Given the description of an element on the screen output the (x, y) to click on. 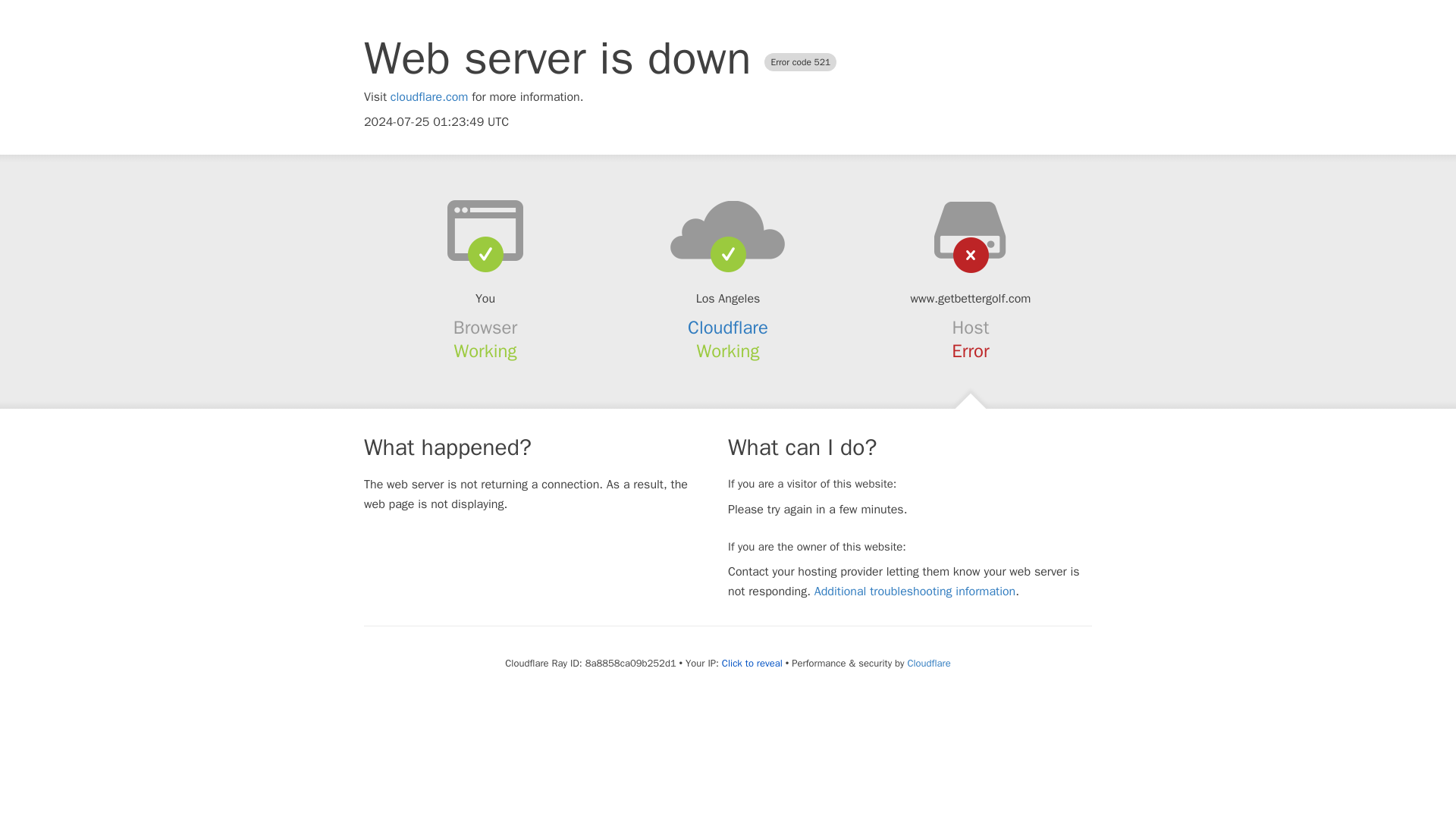
Cloudflare (727, 327)
cloudflare.com (429, 96)
Click to reveal (752, 663)
Cloudflare (928, 662)
Additional troubleshooting information (913, 590)
